Given the description of an element on the screen output the (x, y) to click on. 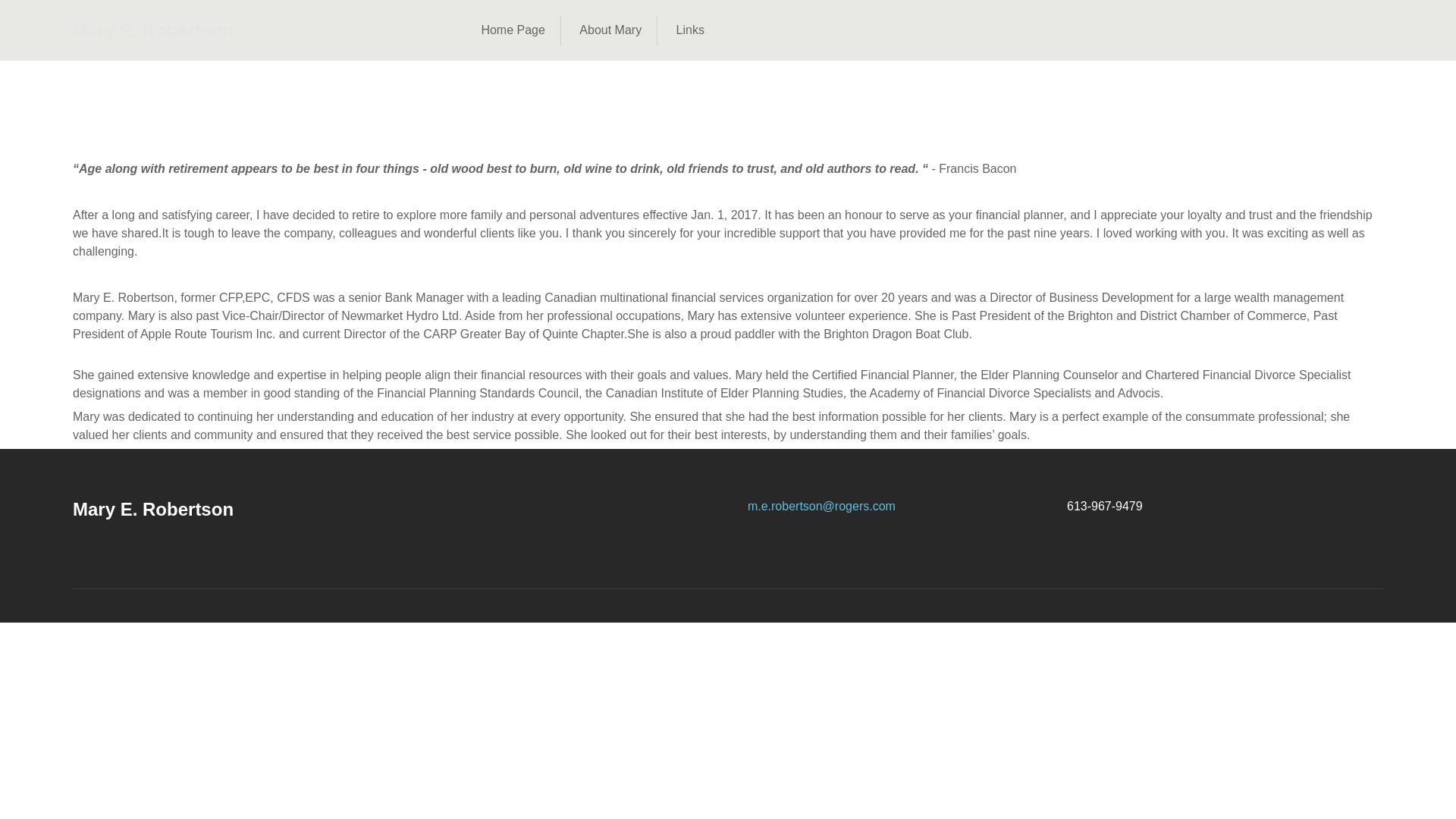
Links Element type: text (690, 30)
Mary E. Robertson Element type: text (152, 508)
Home Page Element type: text (512, 30)
Mary E. Robertson Element type: text (152, 29)
m.e.robertson@rogers.com Element type: text (821, 505)
About Mary Element type: text (610, 30)
